Given the description of an element on the screen output the (x, y) to click on. 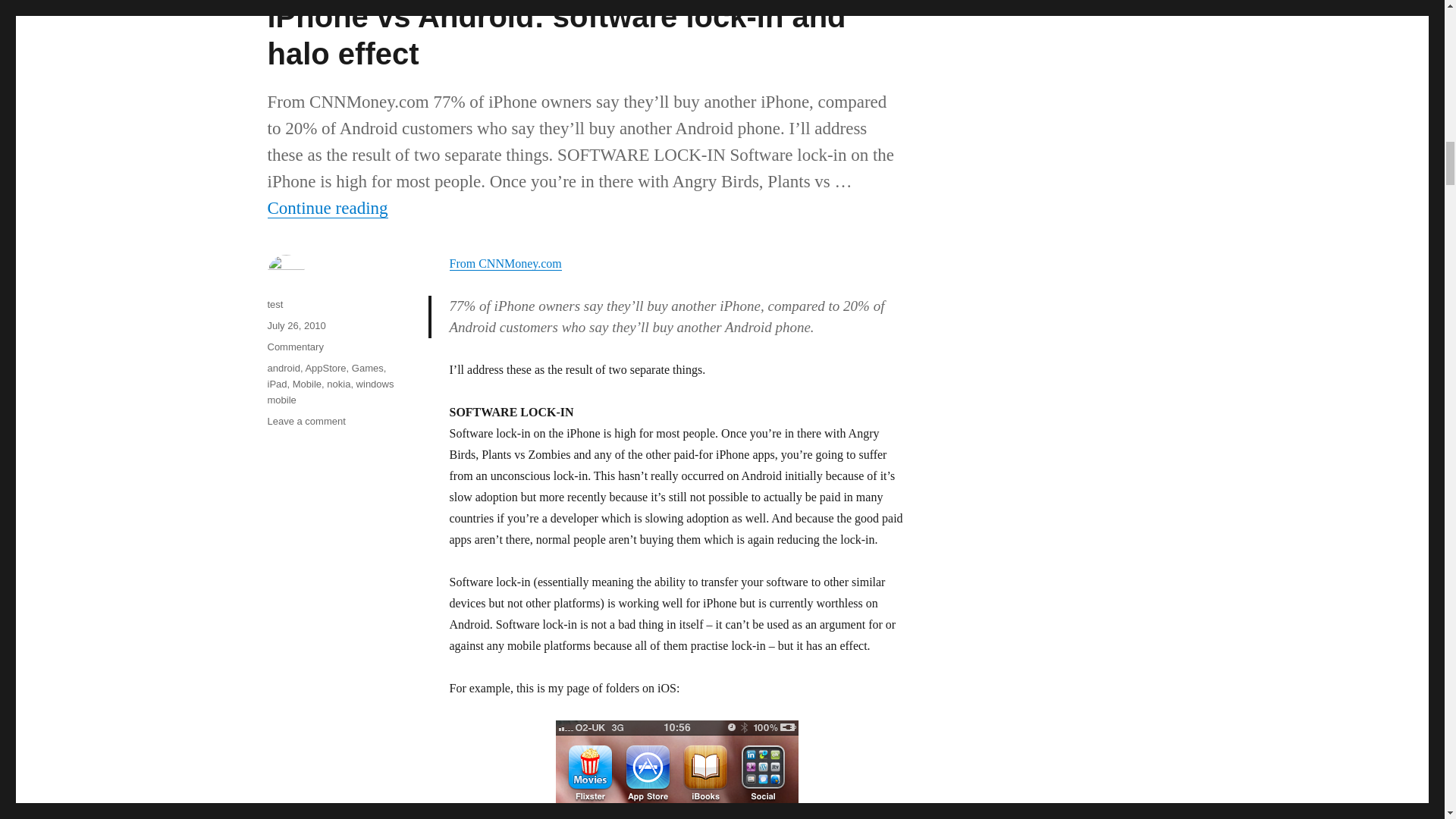
July 26, 2010 (295, 325)
test (274, 304)
iPhone vs Android: software lock-in and halo effect (555, 35)
Commentary (294, 346)
Lock-in (675, 769)
android (282, 367)
From CNNMoney.com (504, 263)
